Given the description of an element on the screen output the (x, y) to click on. 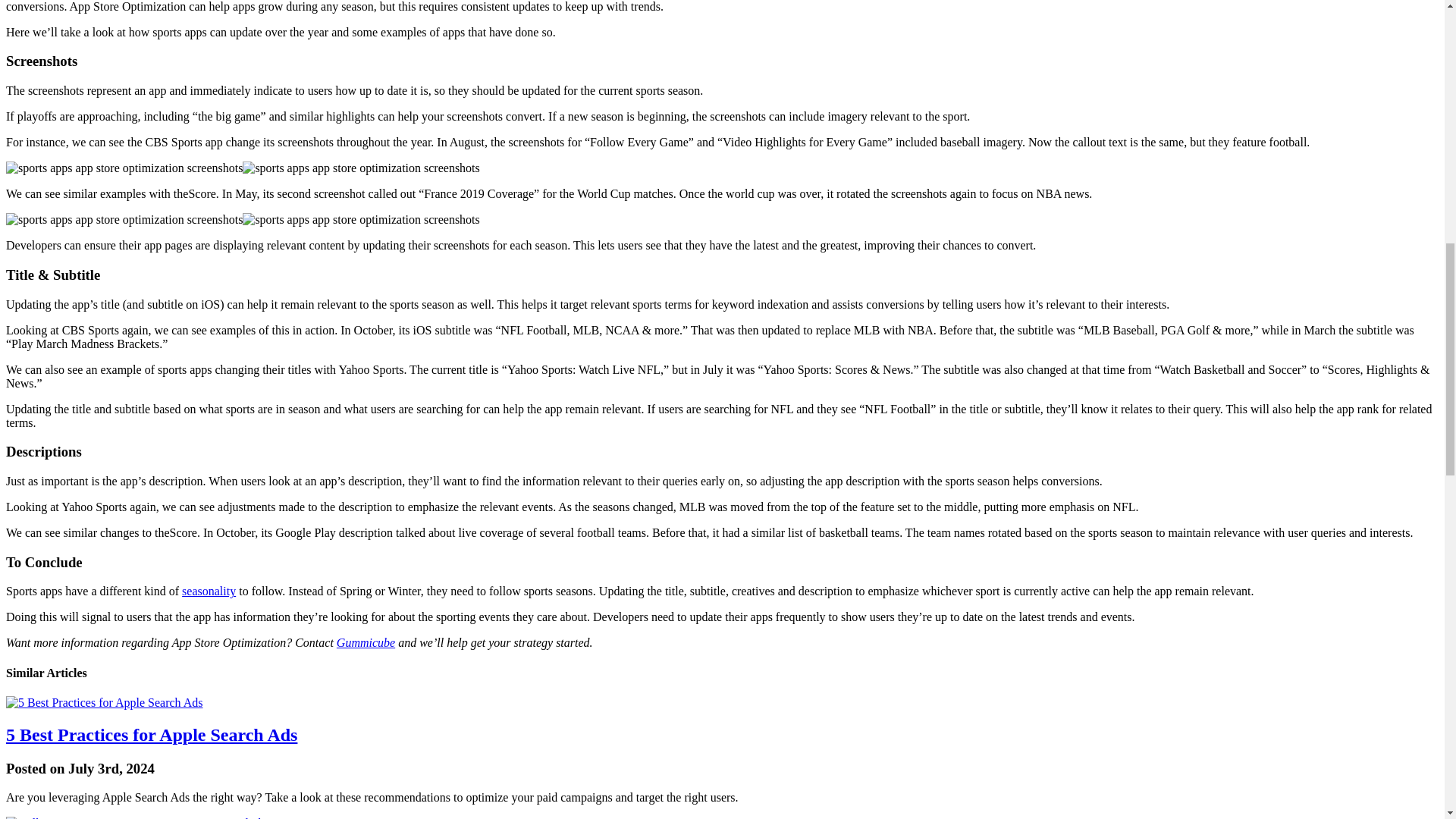
5 Best Practices for Apple Search Ads (151, 734)
seasonality (208, 590)
Gummicube (365, 642)
